Given the description of an element on the screen output the (x, y) to click on. 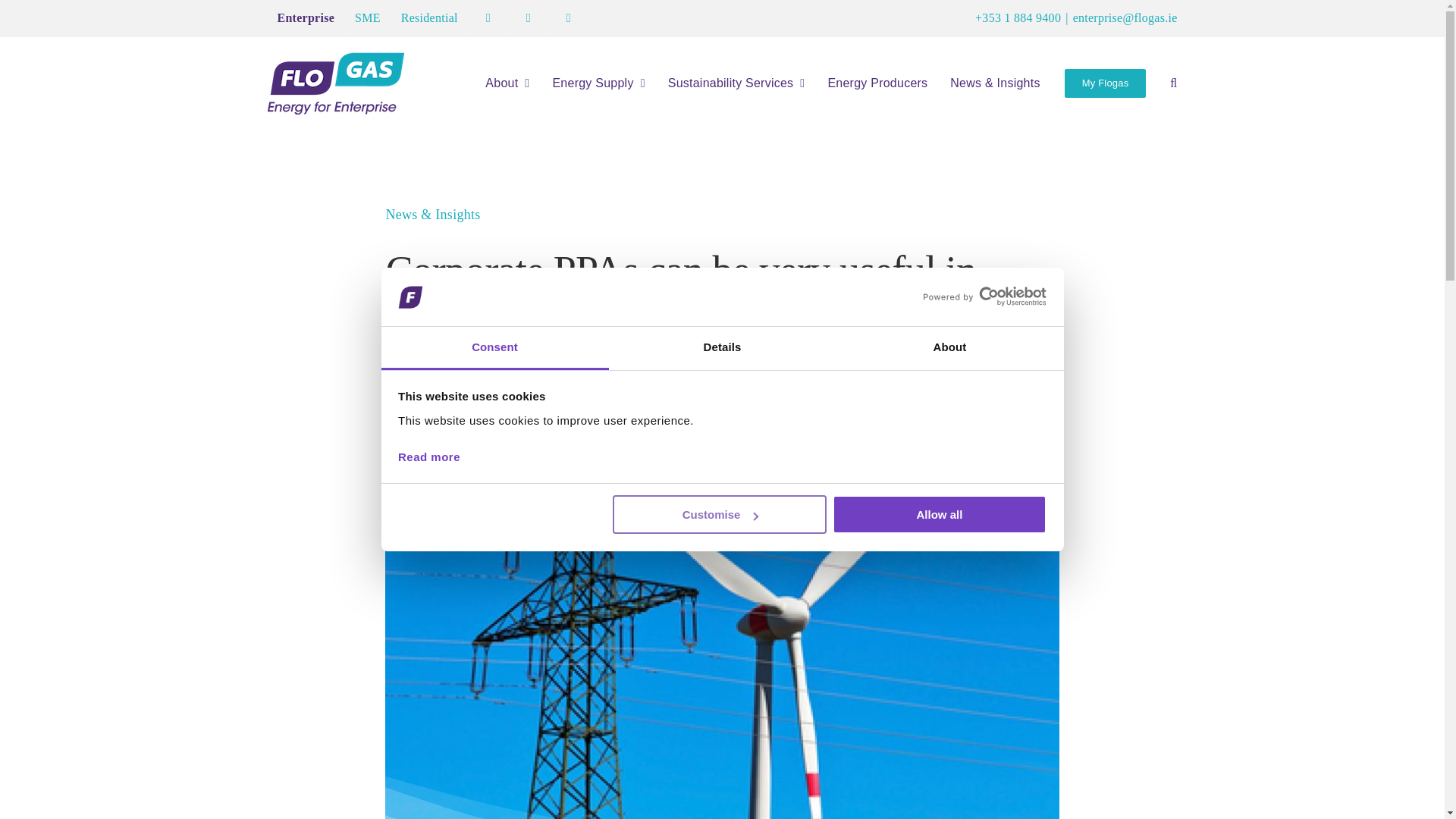
Read more (428, 456)
Consent (494, 348)
About (948, 348)
Customise (719, 514)
Details (721, 348)
